Given the description of an element on the screen output the (x, y) to click on. 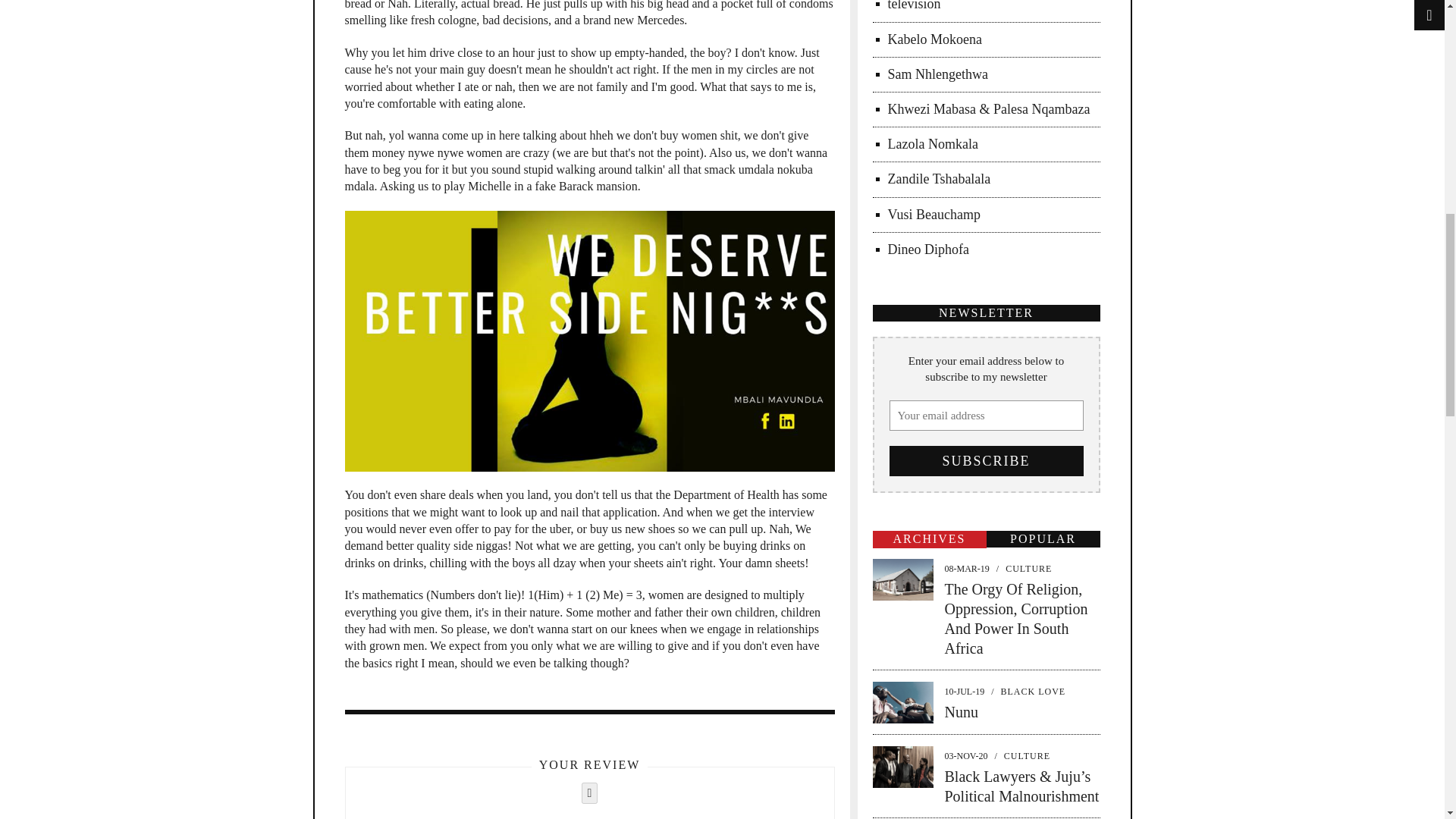
Kabelo Mokoena (933, 38)
Sam Nhlengethwa (936, 73)
television (913, 5)
Subscribe (985, 460)
Lazola Nomkala (931, 143)
